Given the description of an element on the screen output the (x, y) to click on. 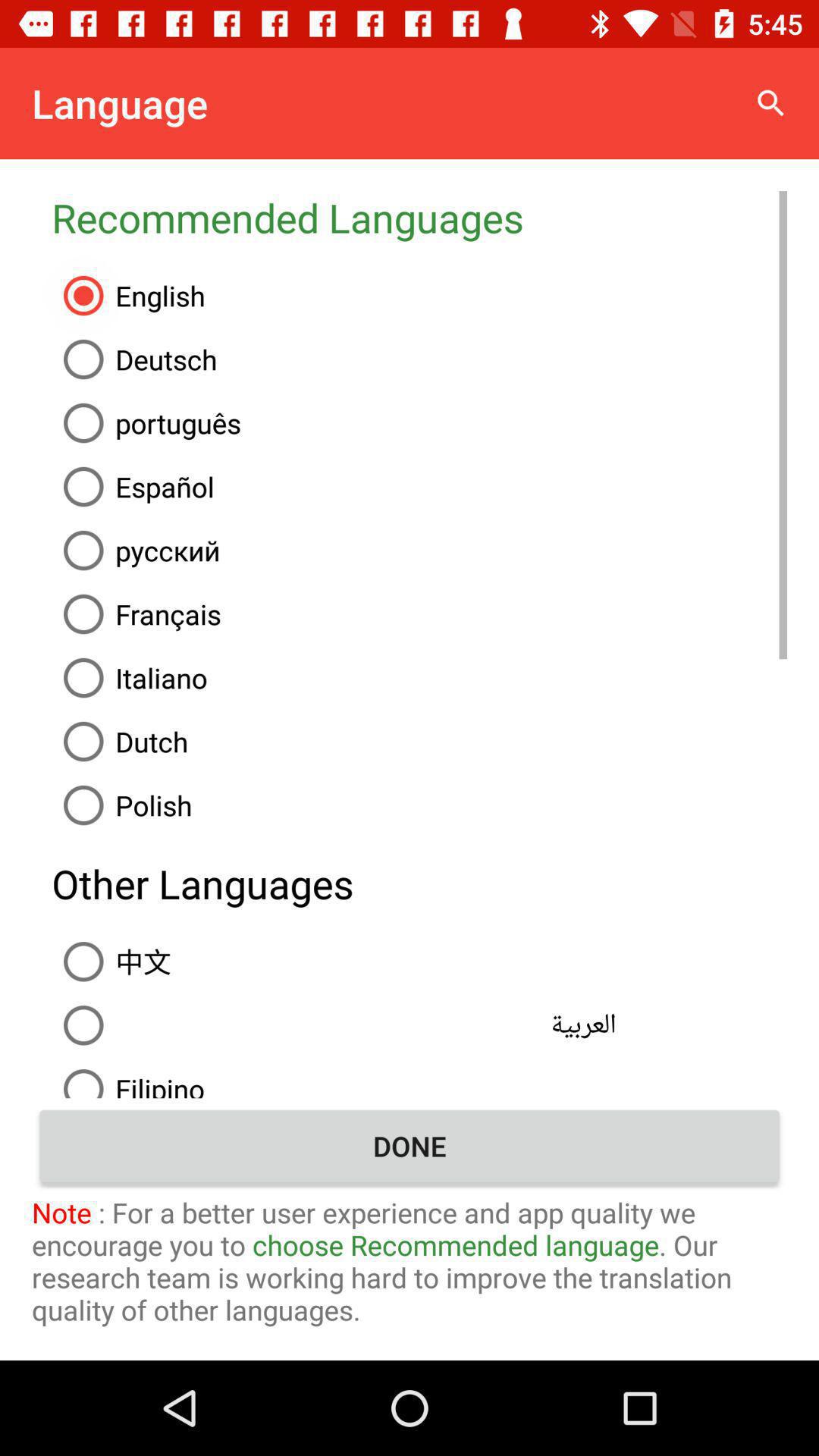
turn on icon above the polish (419, 741)
